Given the description of an element on the screen output the (x, y) to click on. 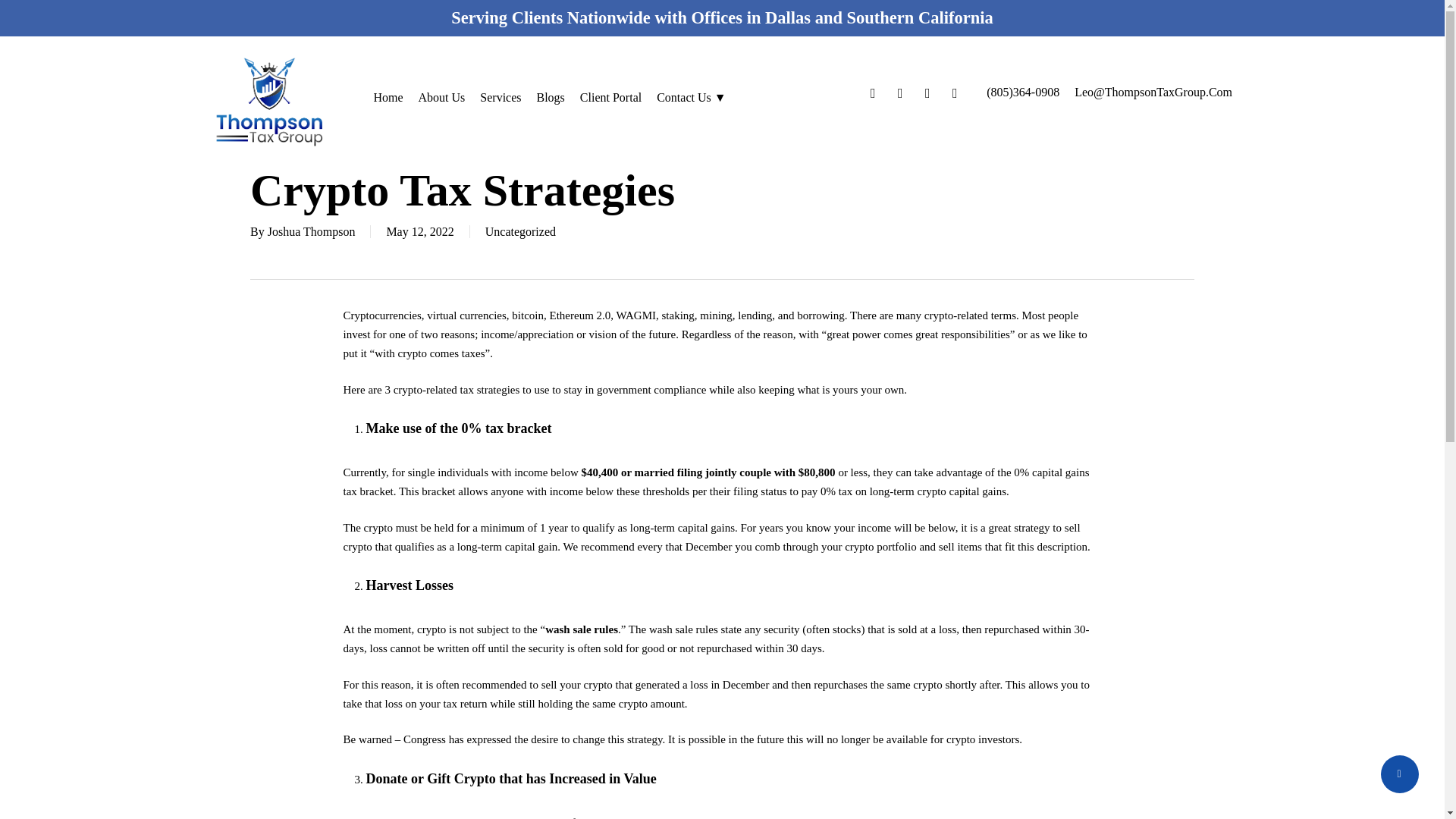
Blogs (550, 97)
Youtube (927, 91)
Facebook (872, 91)
About Us (442, 97)
Uncategorized (520, 231)
Posts by Joshua Thompson (311, 231)
Home (387, 97)
Joshua Thompson (311, 231)
Instagram (954, 91)
Client Portal (610, 97)
Linkedin (900, 91)
Services (500, 97)
